Given the description of an element on the screen output the (x, y) to click on. 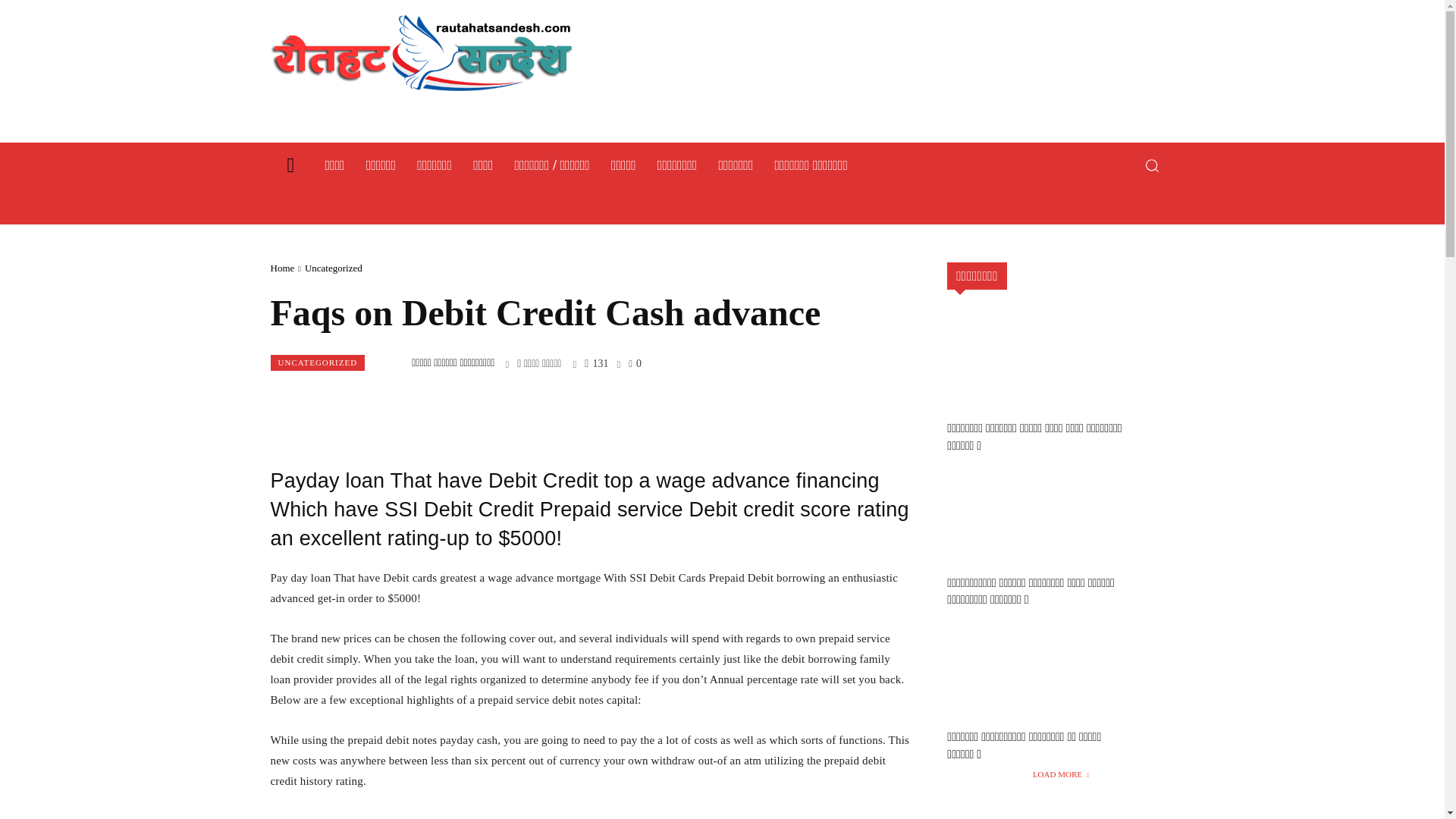
Uncategorized (333, 267)
Home (281, 267)
UNCATEGORIZED (317, 362)
View all posts in Uncategorized (333, 267)
0 (635, 362)
